Given the description of an element on the screen output the (x, y) to click on. 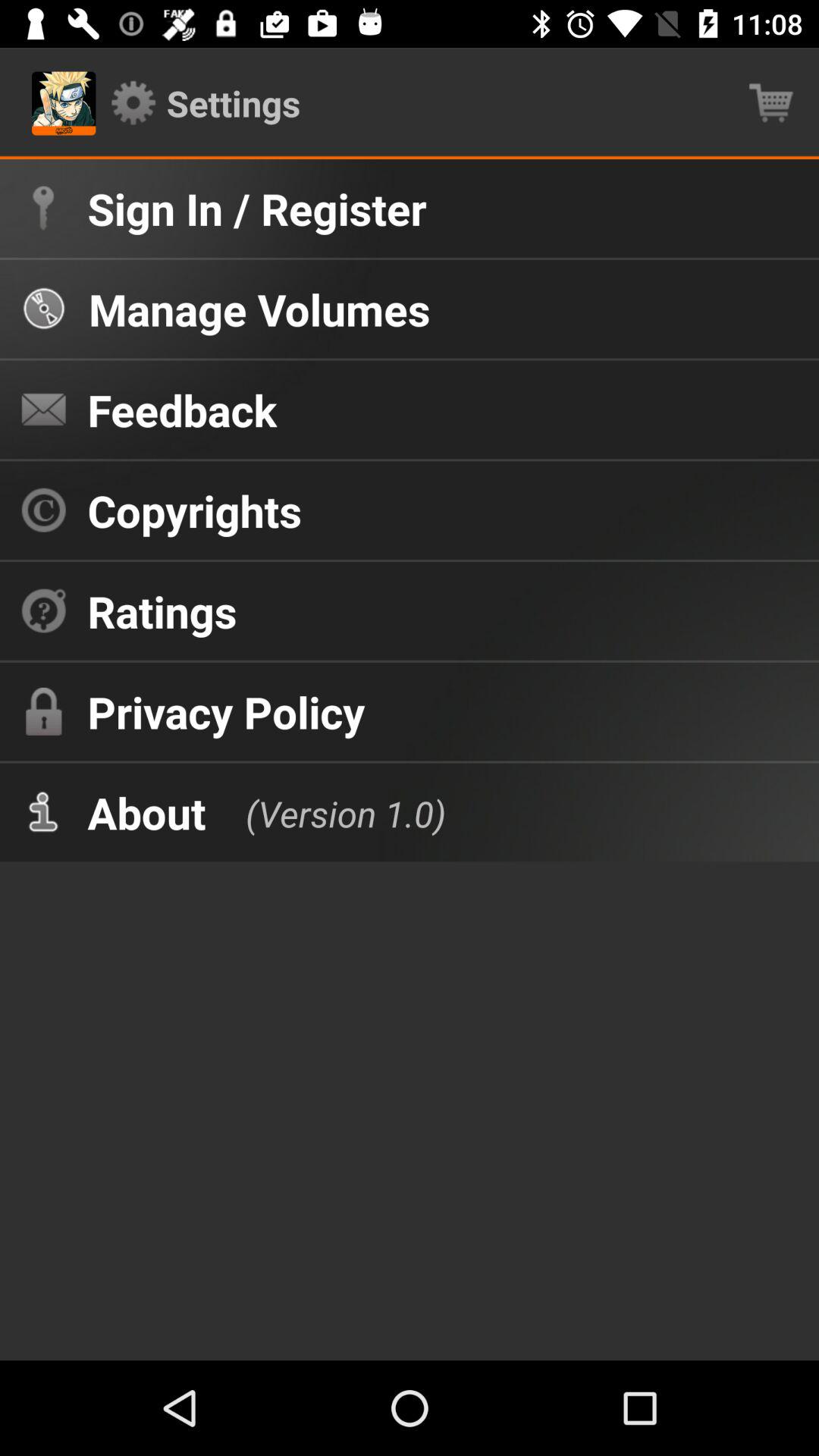
tap item next to the  settings (771, 103)
